Given the description of an element on the screen output the (x, y) to click on. 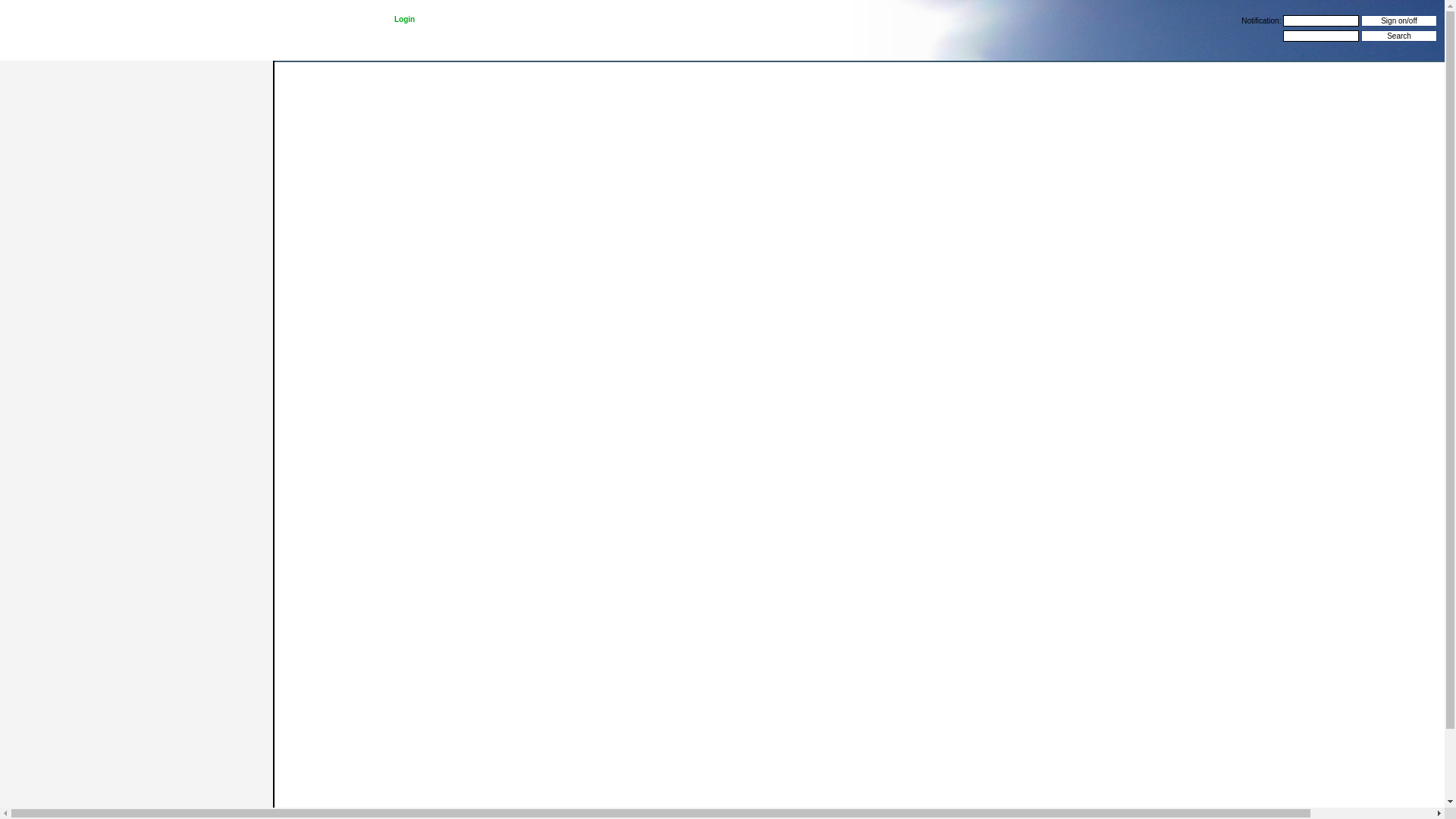
Login (404, 19)
Search (1399, 35)
Search (1399, 35)
Search (1399, 35)
